Given the description of an element on the screen output the (x, y) to click on. 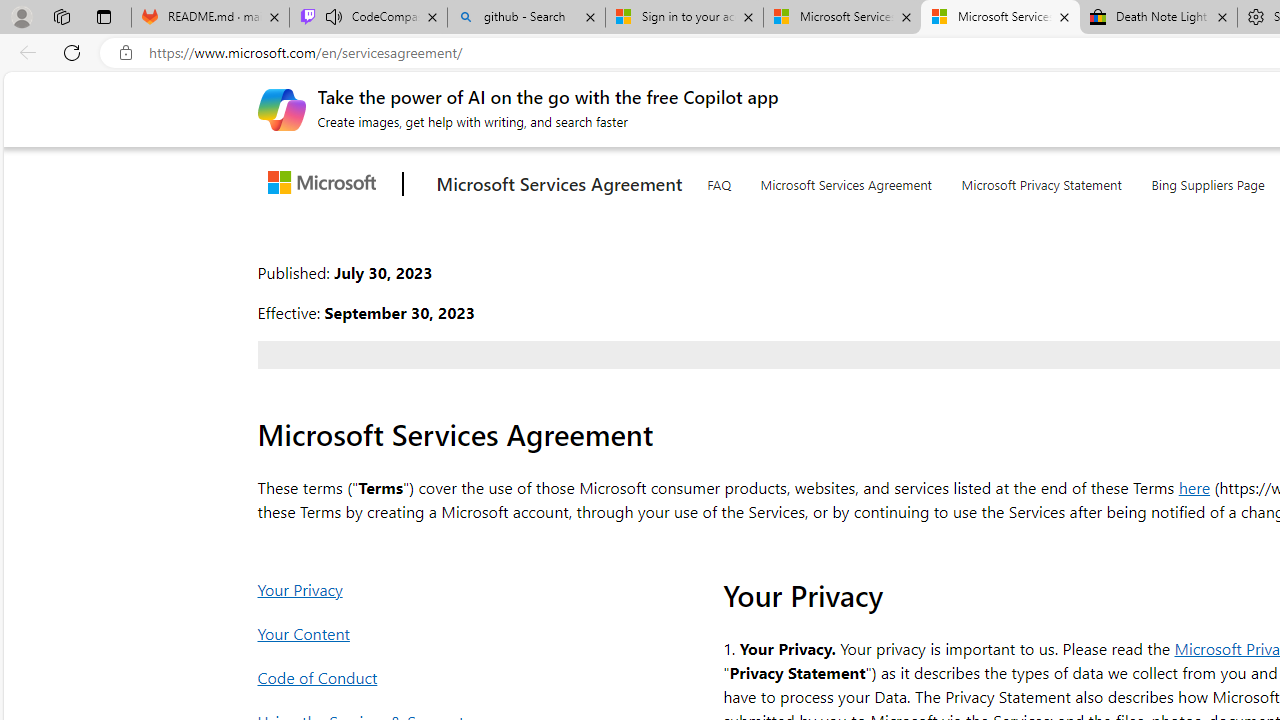
FAQ (718, 180)
Bing Suppliers Page (1207, 181)
Your Privacy (448, 588)
here (1193, 486)
Bing Suppliers Page (1207, 180)
github - Search (526, 17)
